Given the description of an element on the screen output the (x, y) to click on. 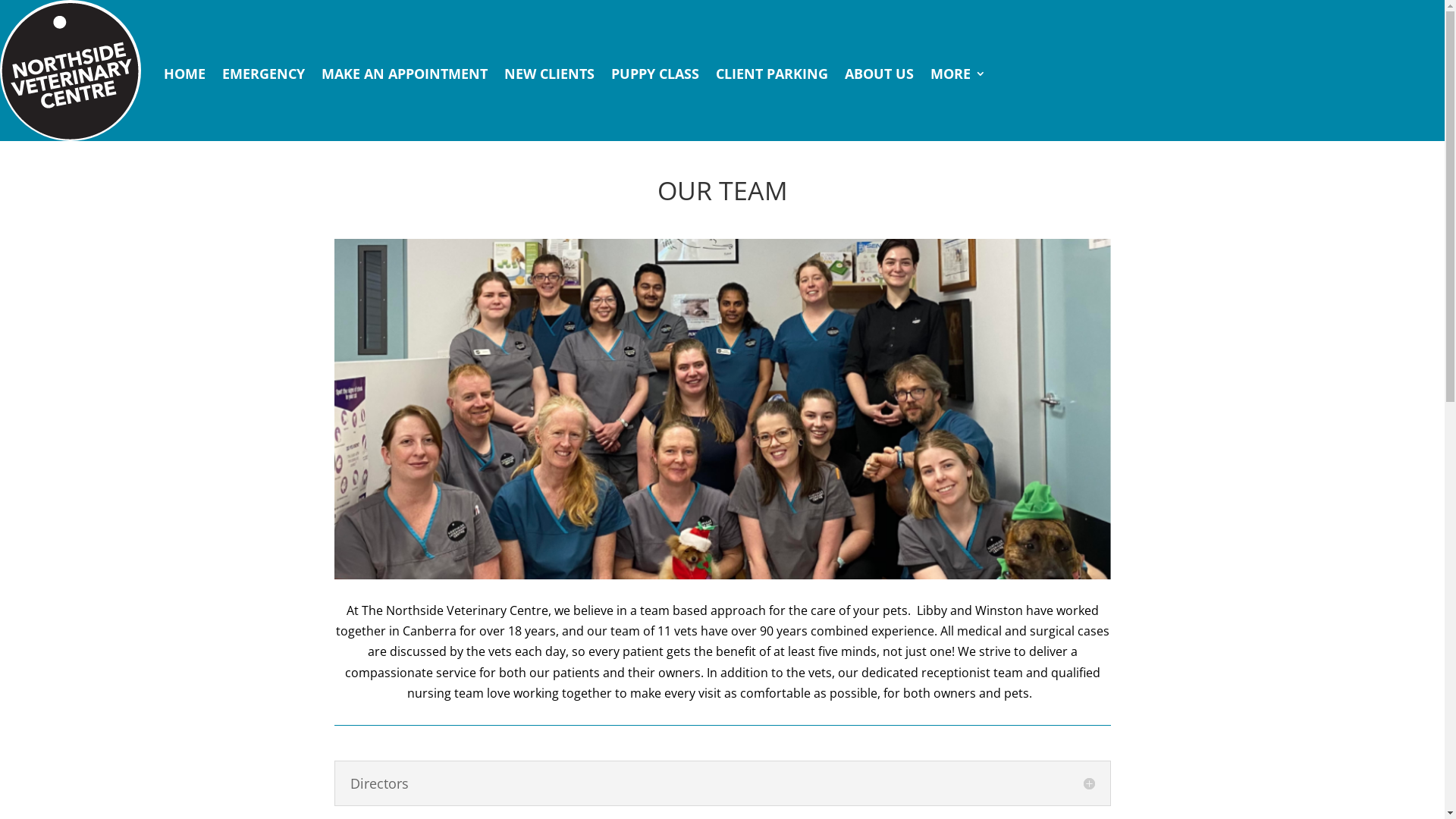
EMERGENCY Element type: text (263, 73)
MAKE AN APPOINTMENT Element type: text (404, 73)
NEW CLIENTS Element type: text (549, 73)
PUPPY CLASS Element type: text (655, 73)
team photo Element type: hover (721, 408)
ABOUT US Element type: text (878, 73)
CLIENT PARKING Element type: text (771, 73)
HOME Element type: text (184, 73)
MORE Element type: text (957, 73)
